Given the description of an element on the screen output the (x, y) to click on. 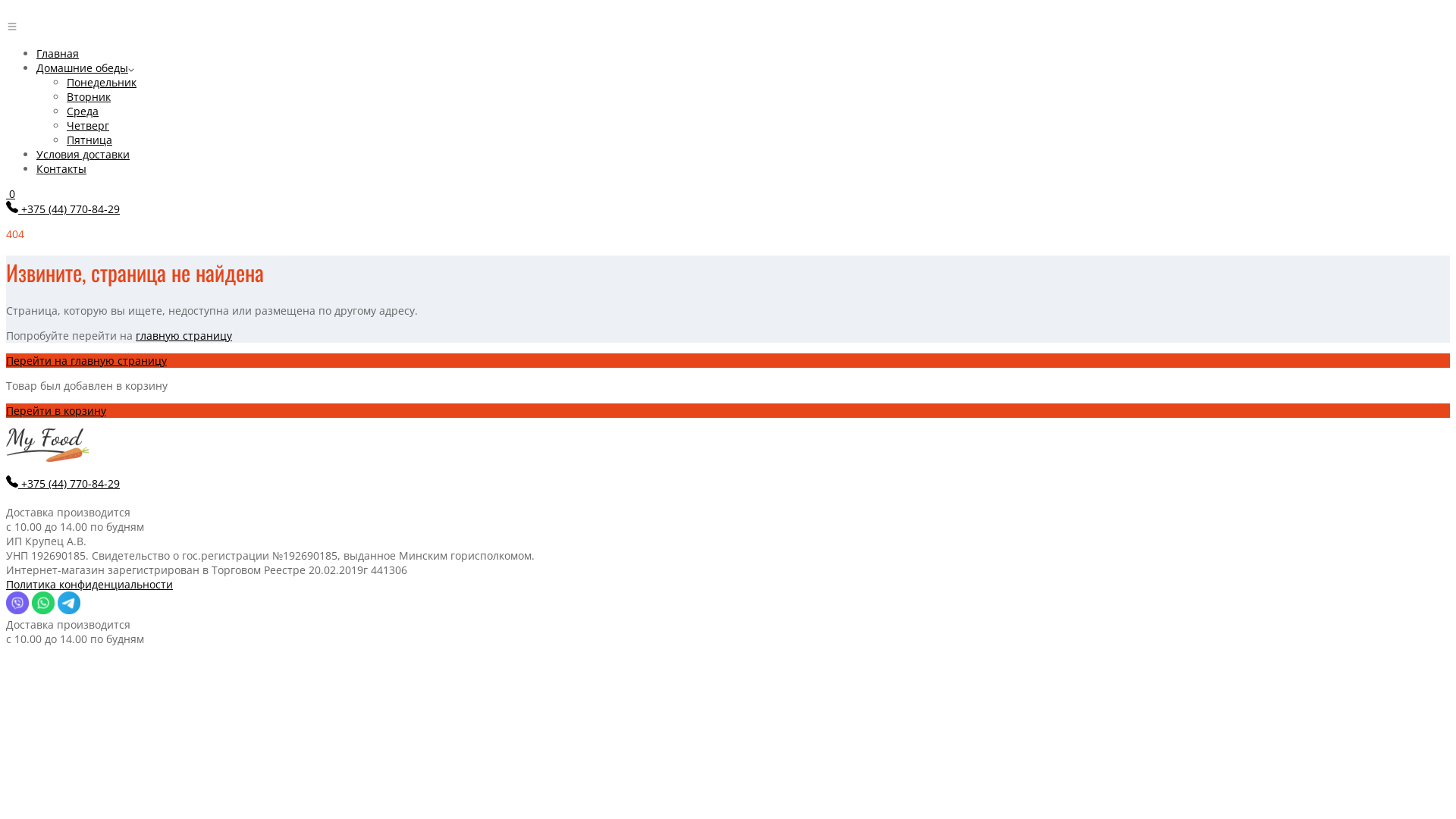
0 Element type: text (10, 193)
+375 (44) 770-84-29 Element type: text (70, 208)
+375 (44) 770-84-29 Element type: text (70, 483)
